Given the description of an element on the screen output the (x, y) to click on. 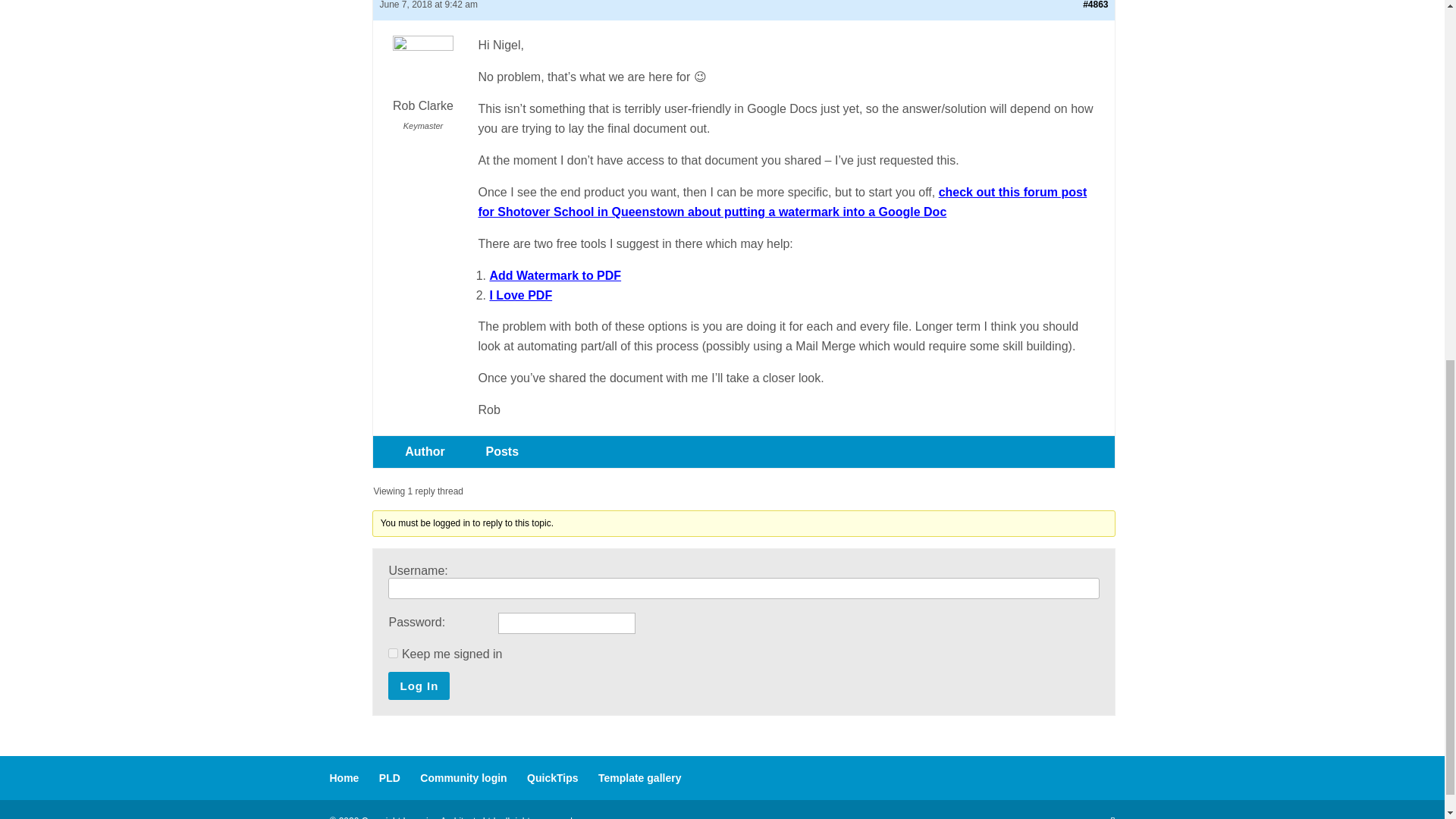
Community login (463, 777)
PLD (389, 777)
QuickTips (552, 777)
View Rob Clarke's profile (421, 78)
I Love PDF (520, 295)
Add Watermark to PDF (555, 275)
forever (392, 653)
Log In (418, 685)
Rob Clarke (421, 78)
Home (343, 777)
Template gallery (639, 777)
